Given the description of an element on the screen output the (x, y) to click on. 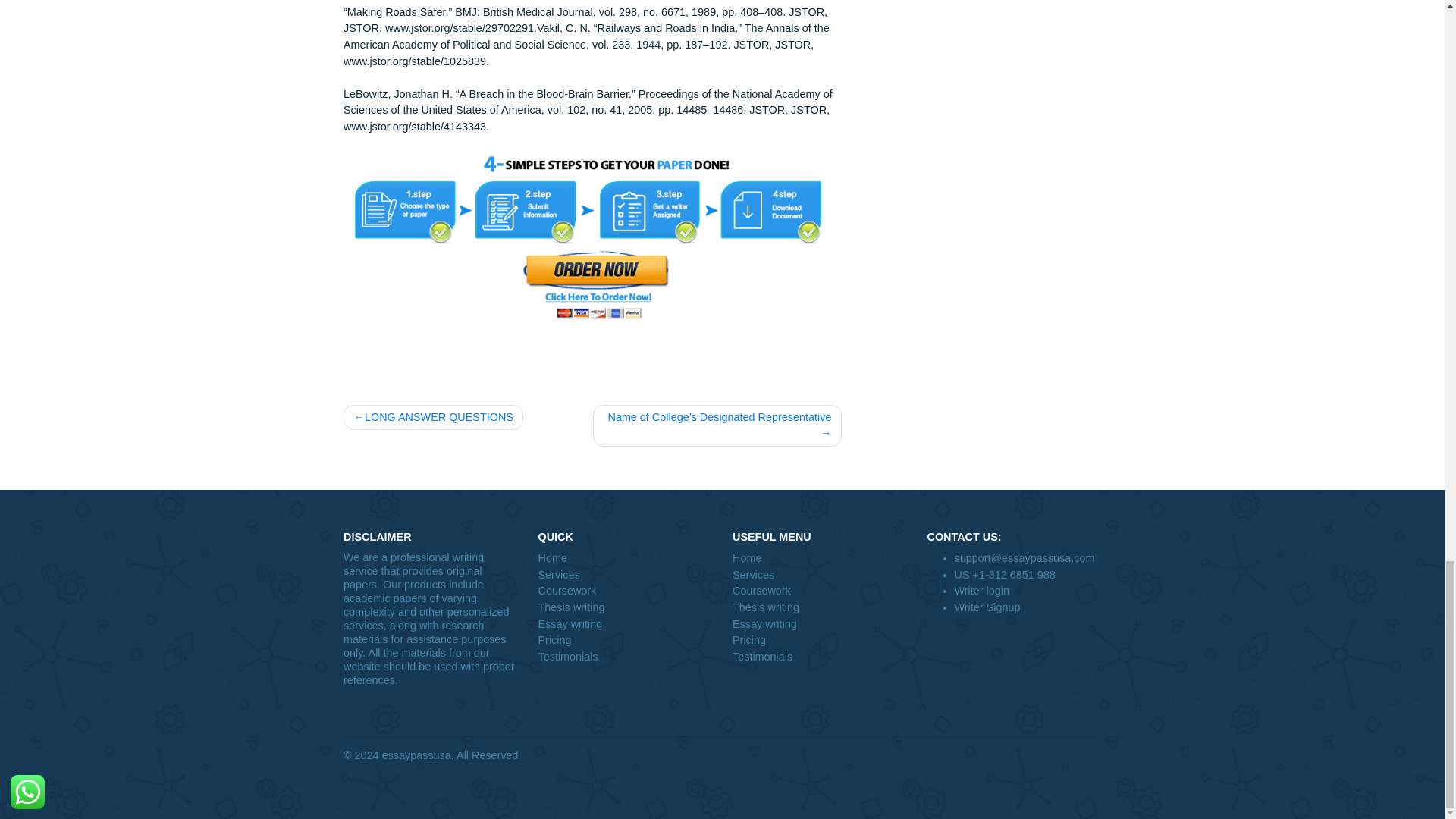
Home (693, 816)
LONG ANSWER QUESTIONS (480, 666)
Home (910, 816)
